Given the description of an element on the screen output the (x, y) to click on. 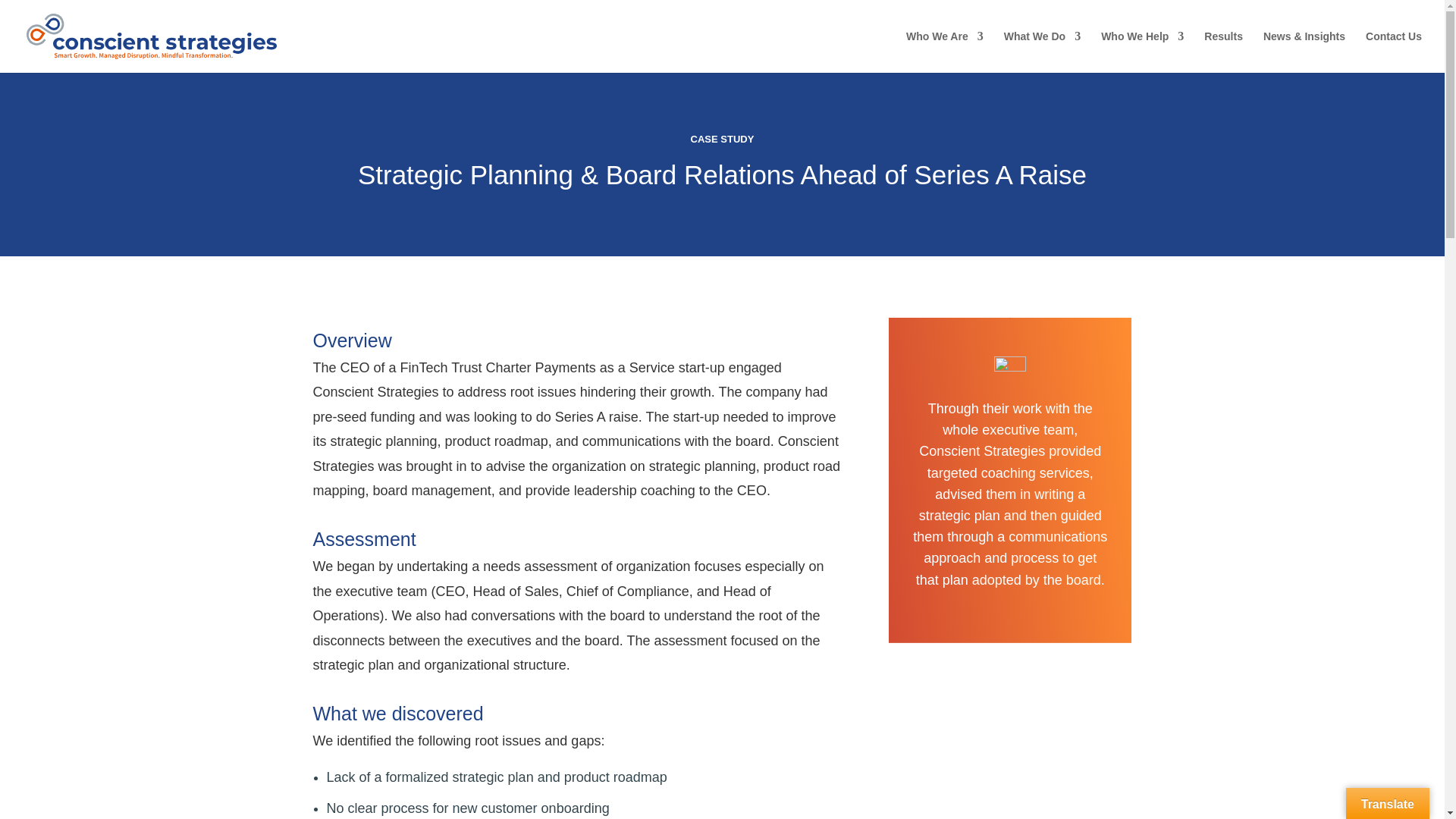
Who We Are (944, 51)
Who We Help (1141, 51)
What We Do (1042, 51)
Contact Us (1393, 51)
Results (1223, 51)
